Given the description of an element on the screen output the (x, y) to click on. 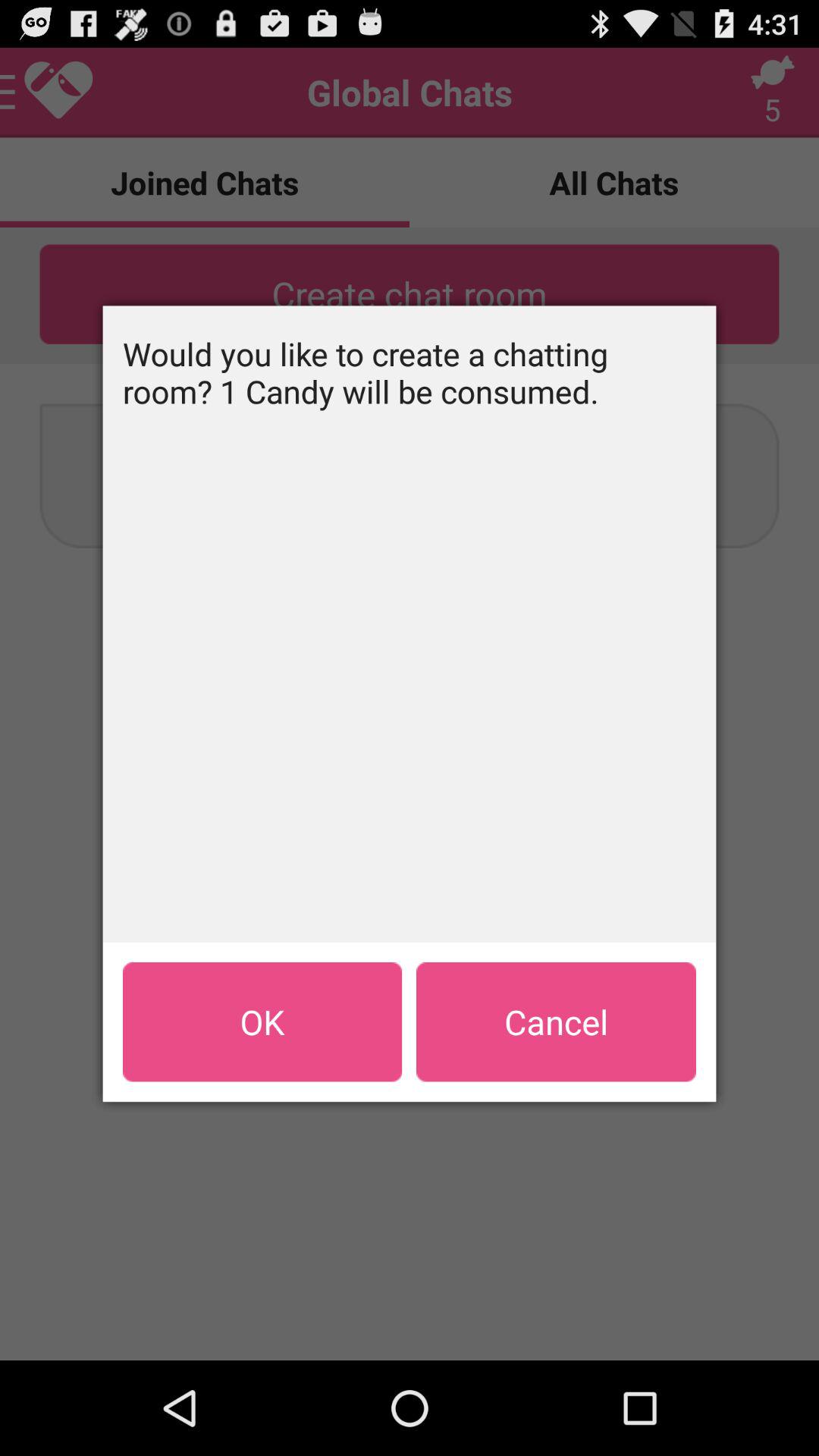
turn off the icon to the right of the ok (556, 1021)
